Given the description of an element on the screen output the (x, y) to click on. 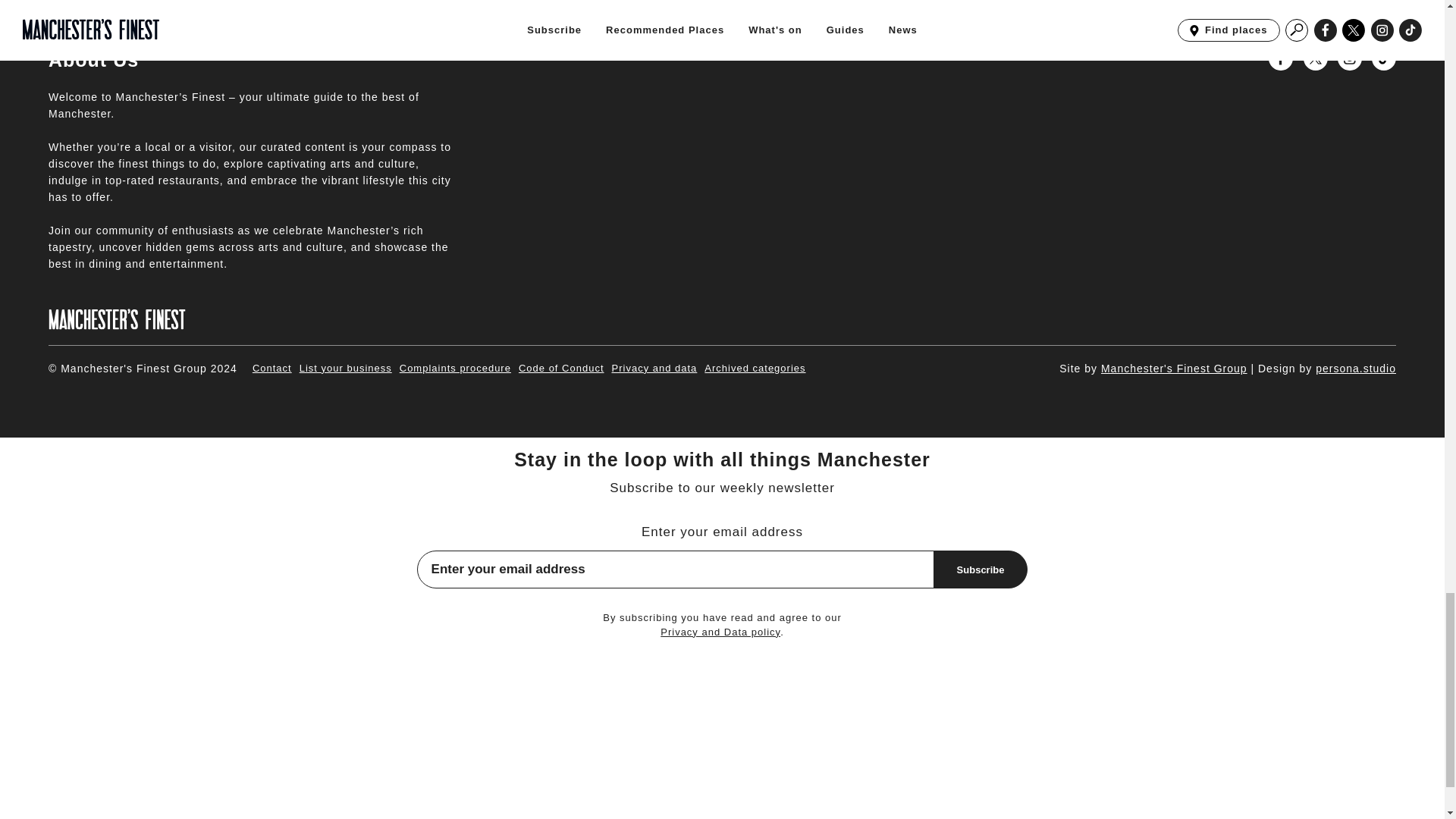
Go to Manchester's Finest Instagram profile (1349, 57)
Go to Manchester's Finest X profile (1315, 57)
Go to Manchester's Finest Facebook page (1280, 57)
Go to Manchester's Finest TikTok profile (1383, 57)
